Given the description of an element on the screen output the (x, y) to click on. 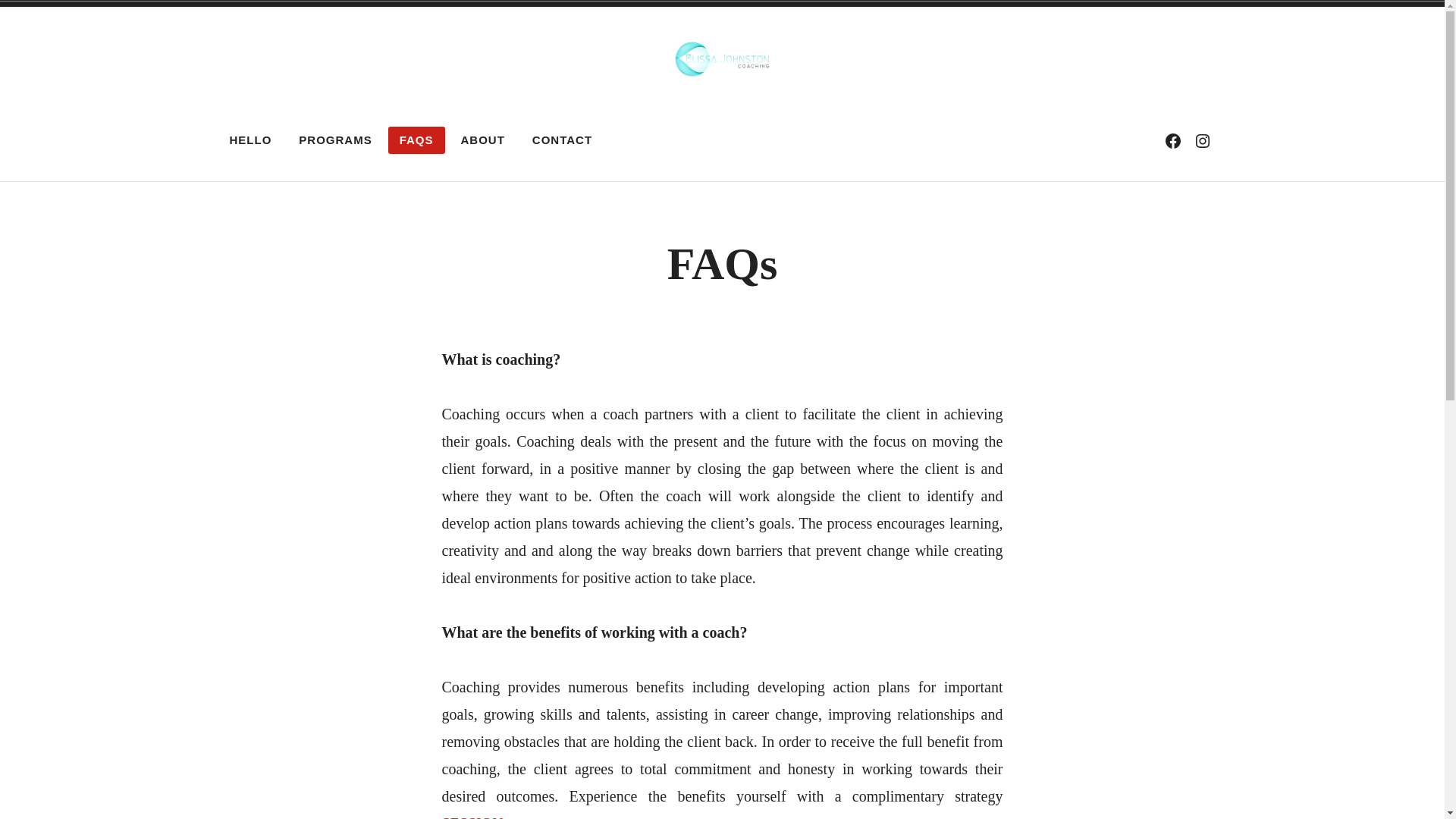
CONTACT Element type: text (561, 139)
ABOUT Element type: text (482, 139)
Elissa Johnston Coaching Element type: text (478, 122)
Facebook Element type: text (1173, 140)
Instagram Element type: text (1201, 140)
HELLO Element type: text (250, 139)
FAQS Element type: text (416, 139)
PROGRAMS Element type: text (334, 139)
